Given the description of an element on the screen output the (x, y) to click on. 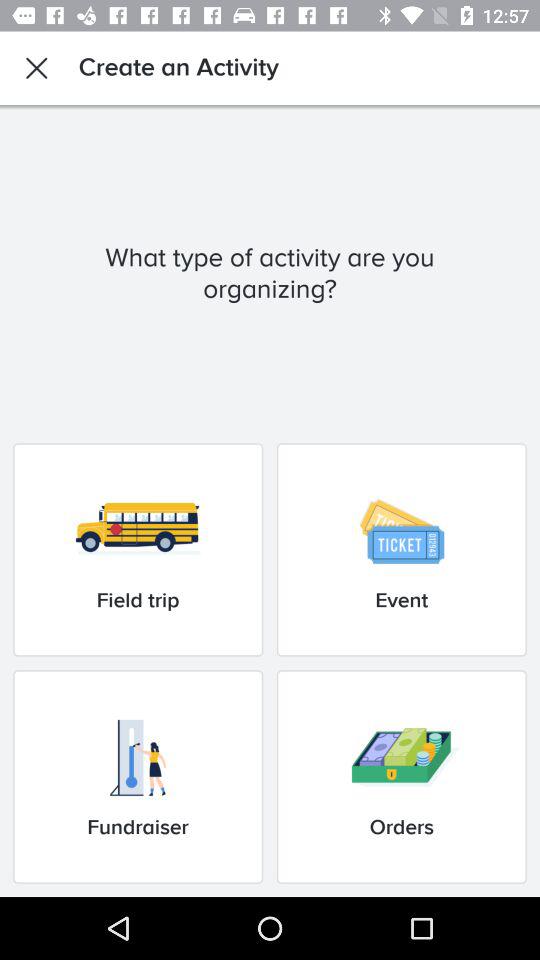
tap the fundraiser icon (138, 776)
